Given the description of an element on the screen output the (x, y) to click on. 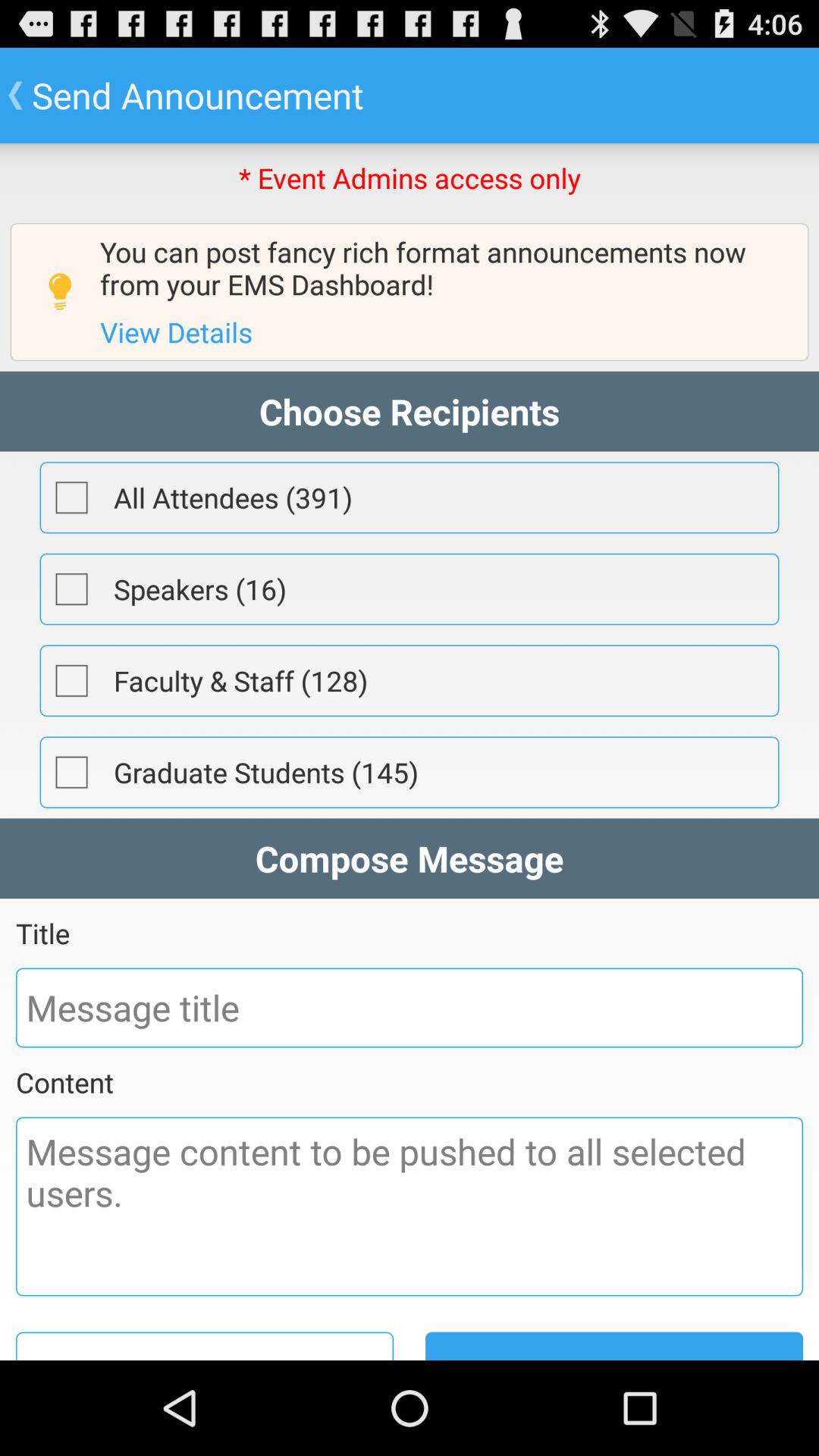
check the speakers box (71, 589)
